Given the description of an element on the screen output the (x, y) to click on. 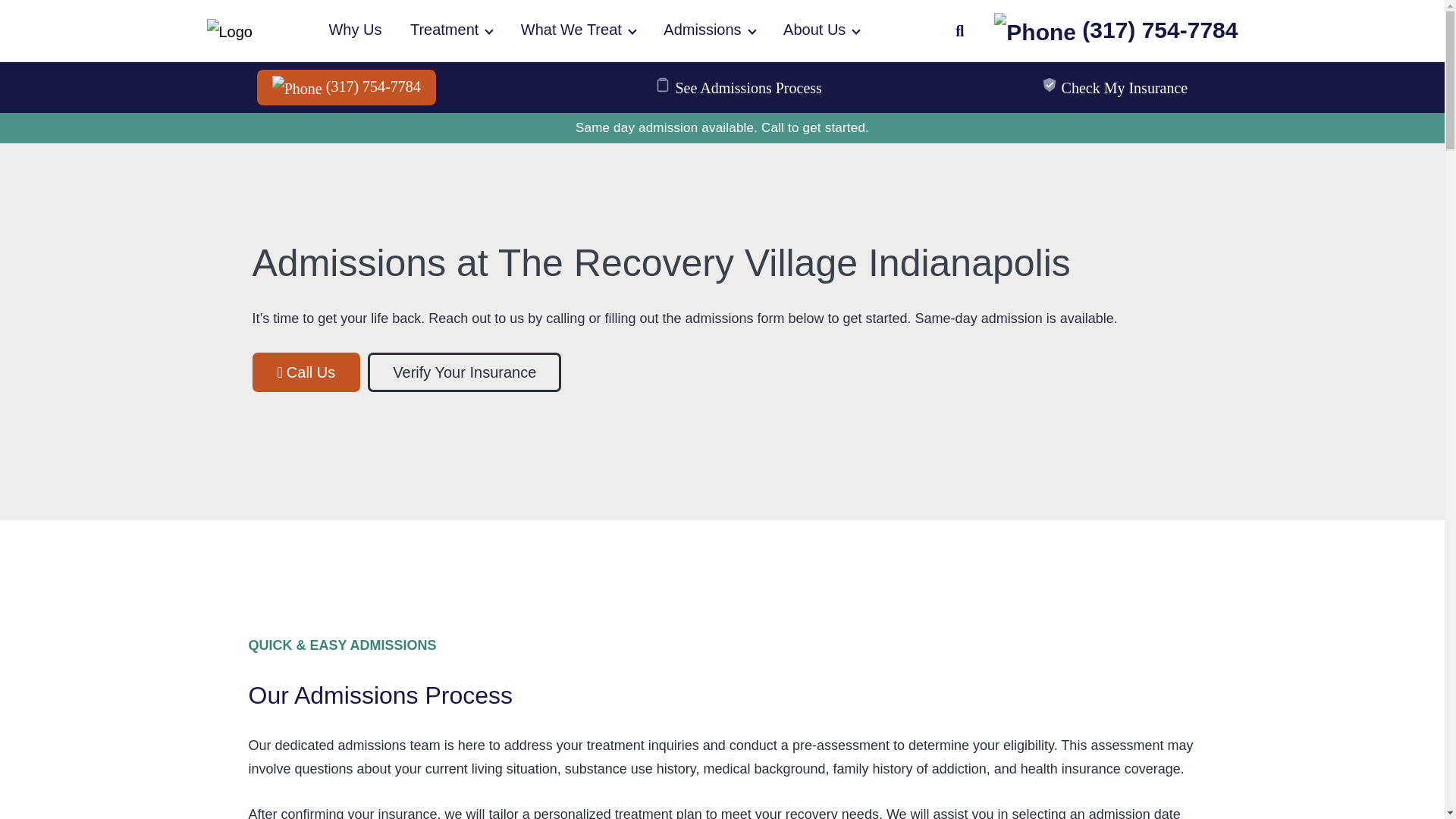
What We Treat (577, 30)
About Us (821, 30)
Admissions (708, 30)
Treatment (451, 30)
Why Us (355, 30)
